Given the description of an element on the screen output the (x, y) to click on. 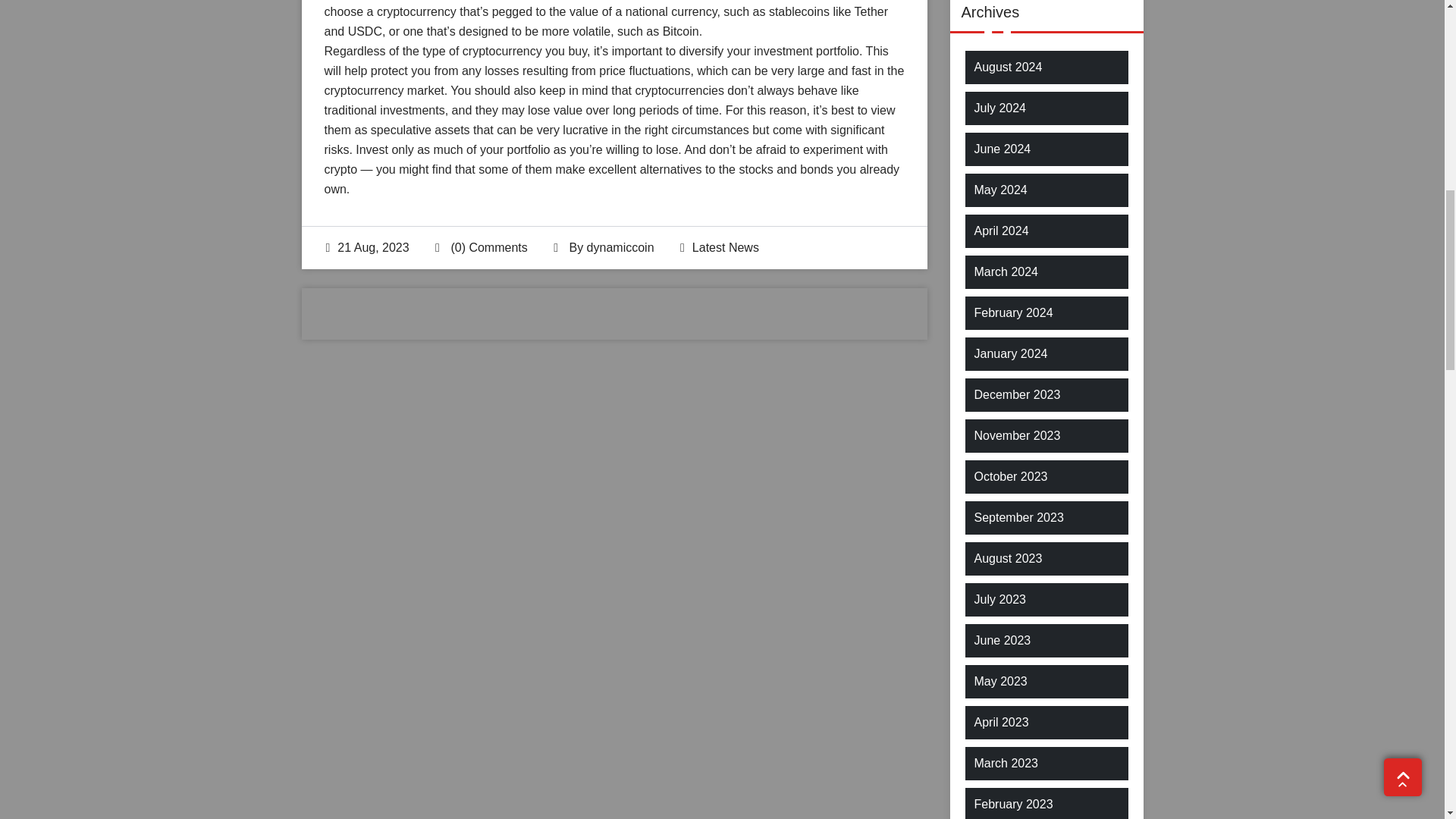
Latest News (725, 246)
September 2023 (1018, 517)
November 2023 (1016, 435)
February 2024 (1013, 312)
July 2023 (1000, 599)
April 2024 (1000, 230)
August 2023 (1008, 558)
June 2024 (1002, 149)
January 2024 (1010, 353)
July 2024 (1000, 108)
